Given the description of an element on the screen output the (x, y) to click on. 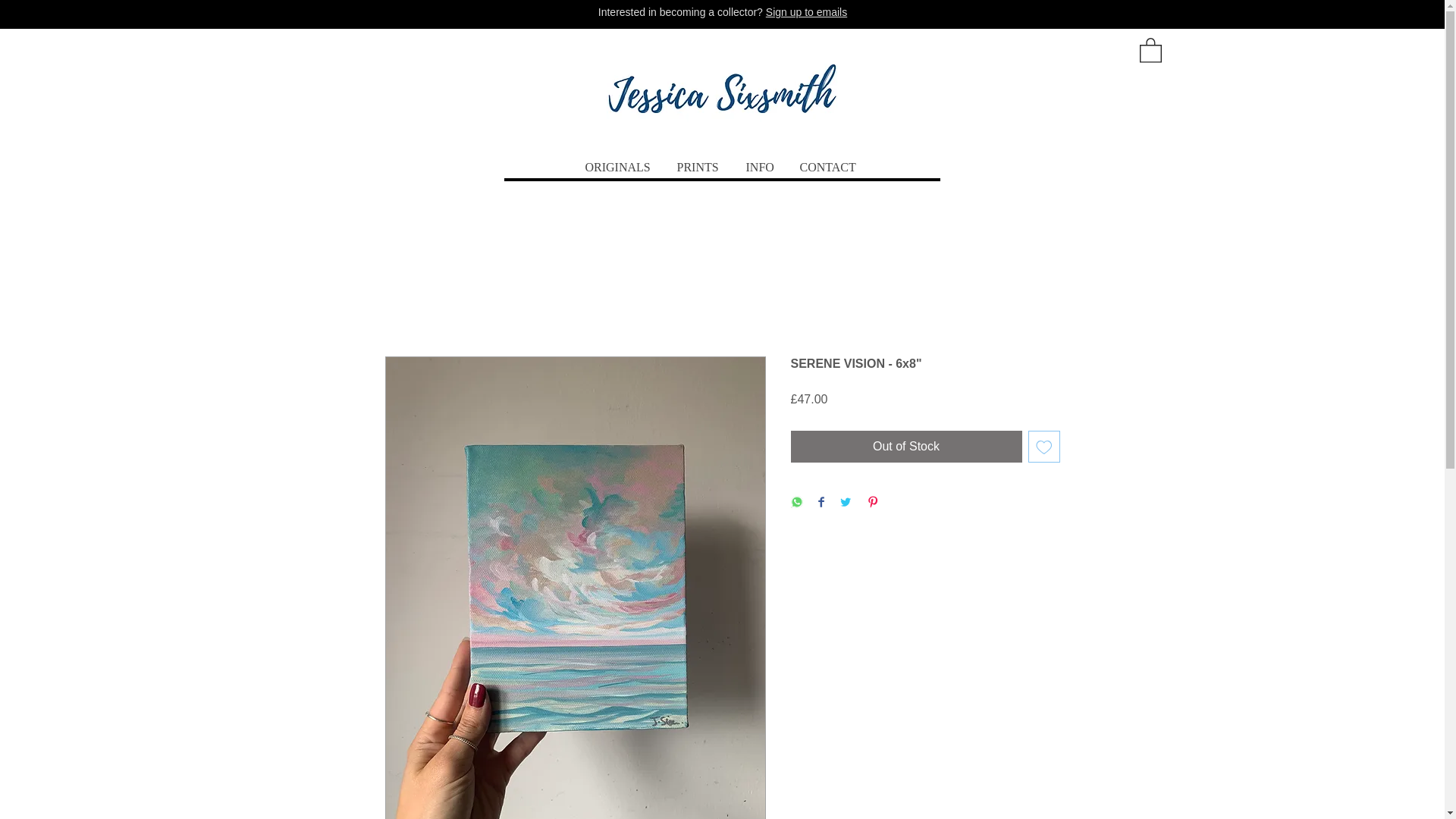
PRINTS (698, 167)
CONTACT (828, 167)
Out of Stock (906, 446)
Interested in becoming a collector? Sign up to emails (722, 11)
